Given the description of an element on the screen output the (x, y) to click on. 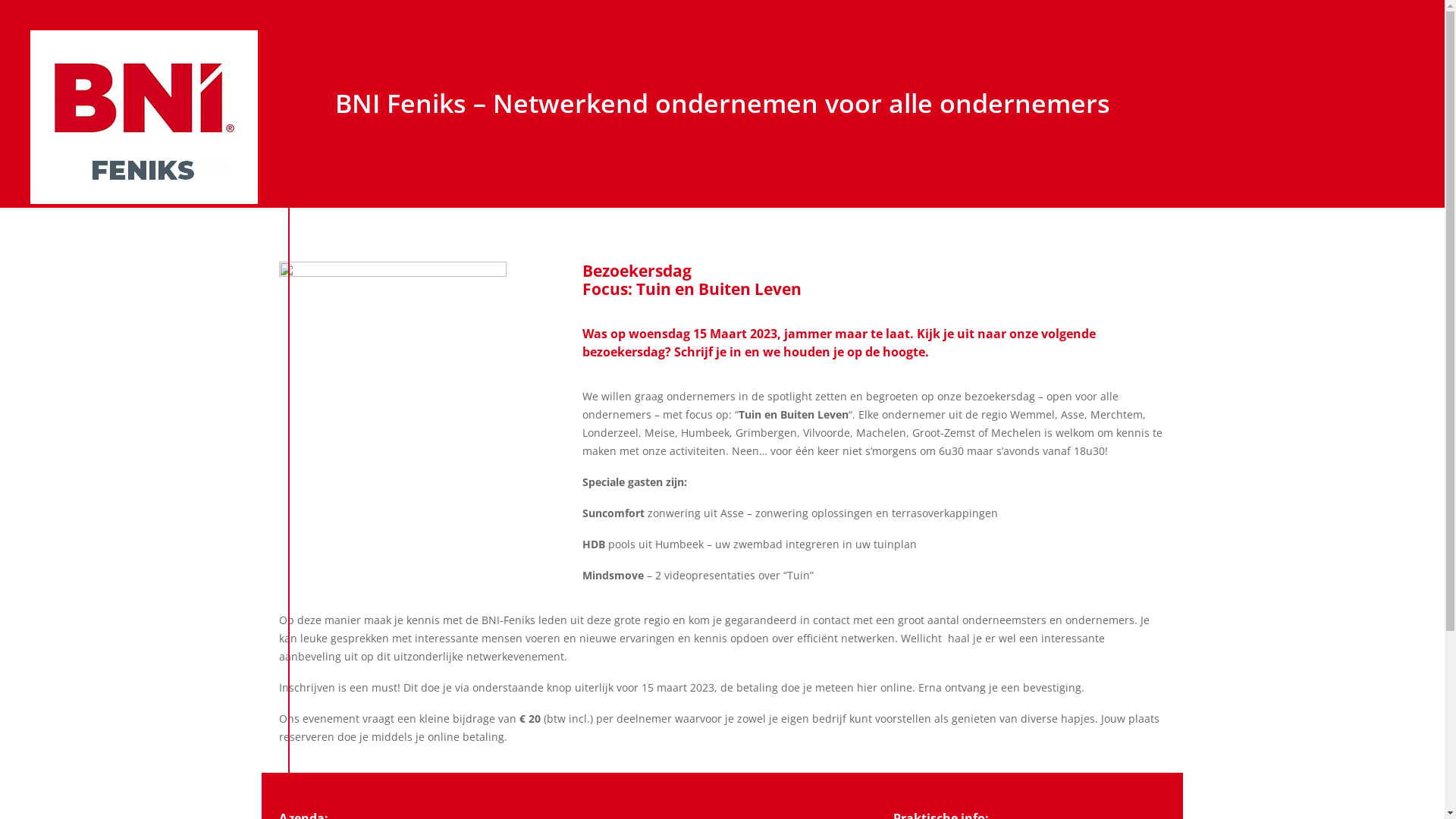
feniks-logo-webshop-deelname-ticket-300x300 Element type: hover (392, 375)
BNI Feniks Element type: hover (143, 116)
